Given the description of an element on the screen output the (x, y) to click on. 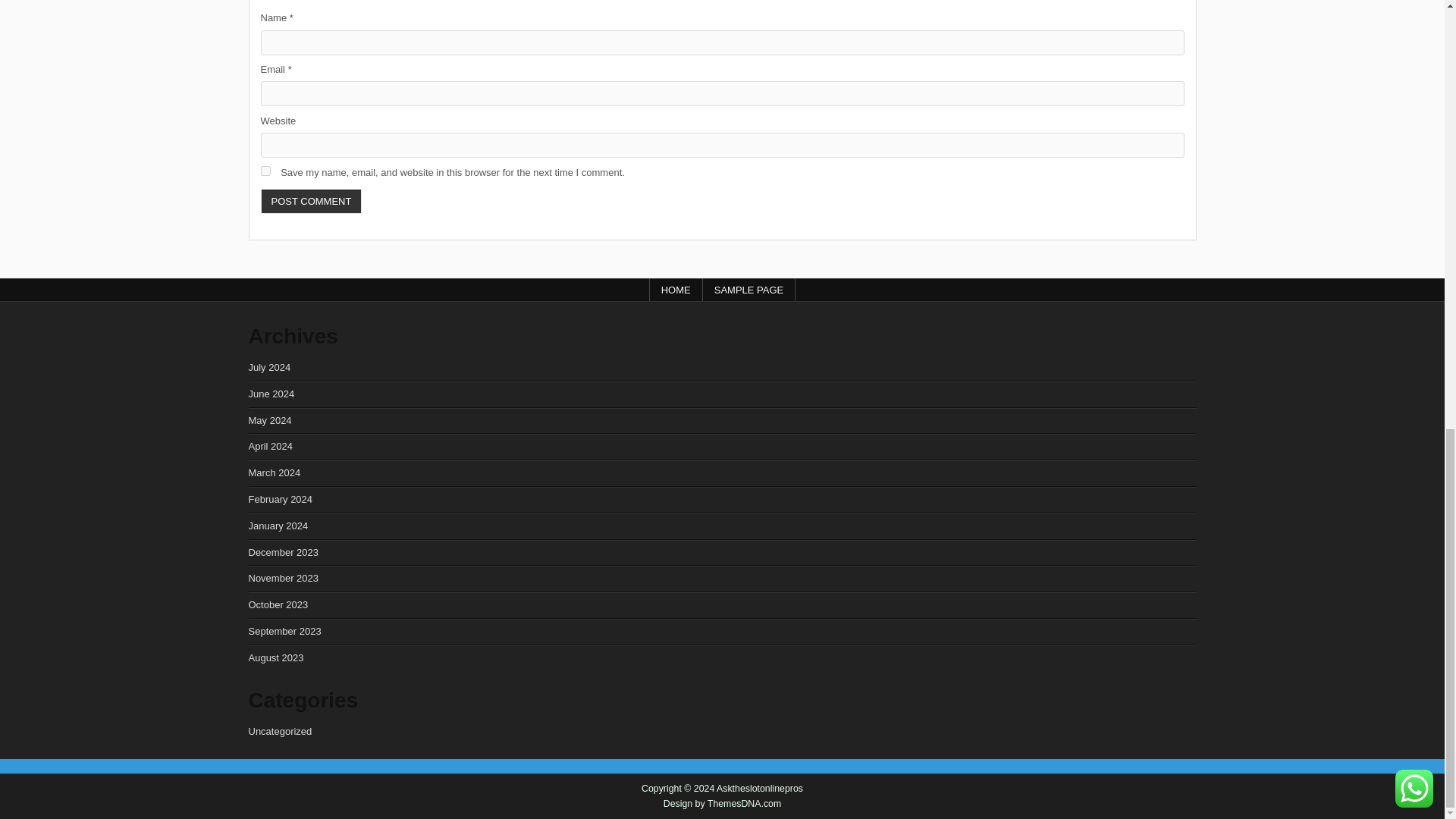
May 2024 (270, 419)
April 2024 (271, 446)
Post Comment (311, 201)
March 2024 (274, 472)
January 2024 (278, 525)
Uncategorized (280, 731)
October 2023 (278, 604)
yes (265, 171)
September 2023 (284, 631)
August 2023 (276, 657)
June 2024 (271, 393)
SAMPLE PAGE (749, 290)
Post Comment (311, 201)
December 2023 (283, 552)
November 2023 (283, 577)
